Given the description of an element on the screen output the (x, y) to click on. 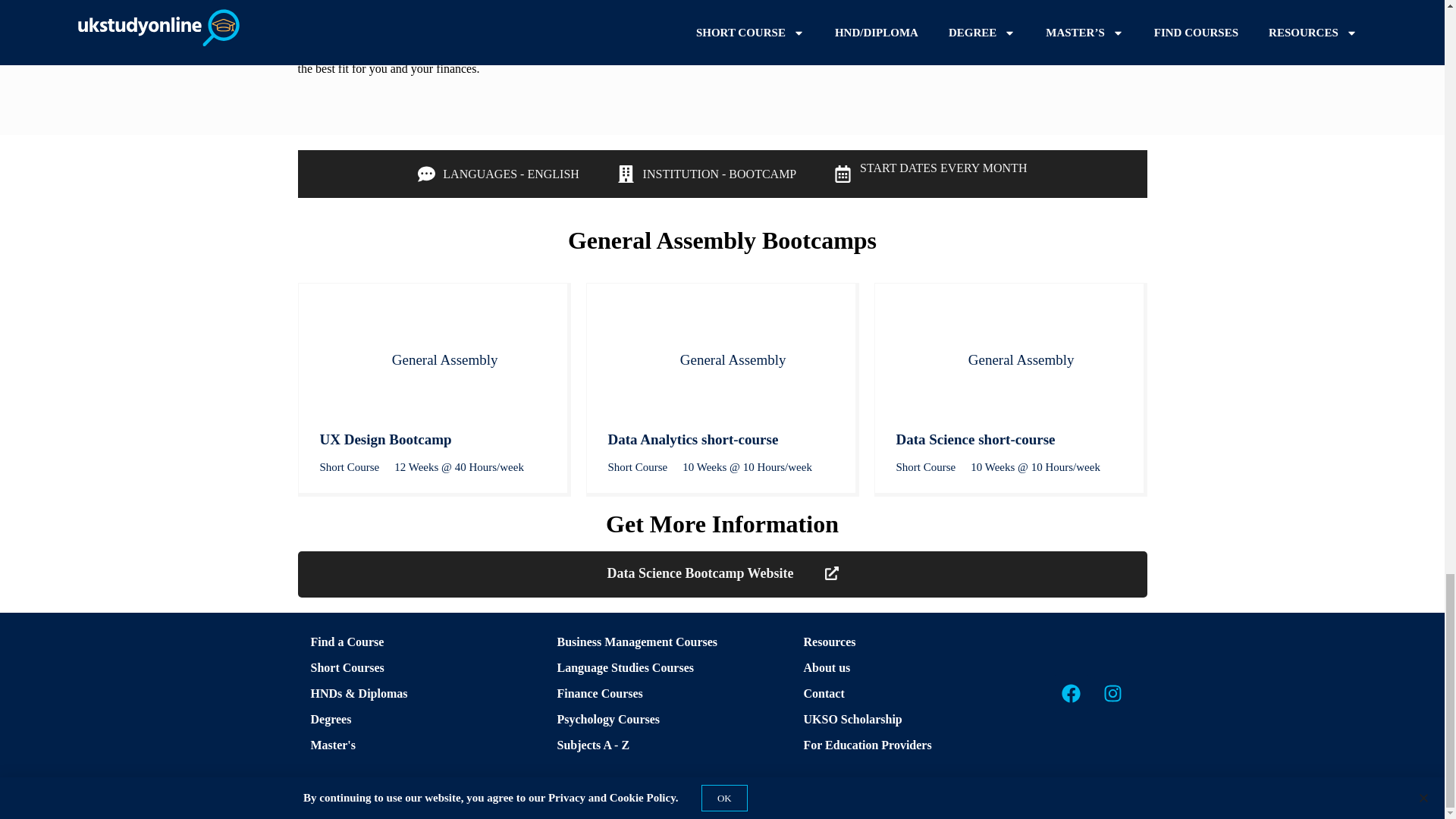
GA Logo 250 x 250 px (348, 359)
GA Logo 250 x 250 px (924, 359)
GA Logo 250 x 250 px (636, 359)
